Given the description of an element on the screen output the (x, y) to click on. 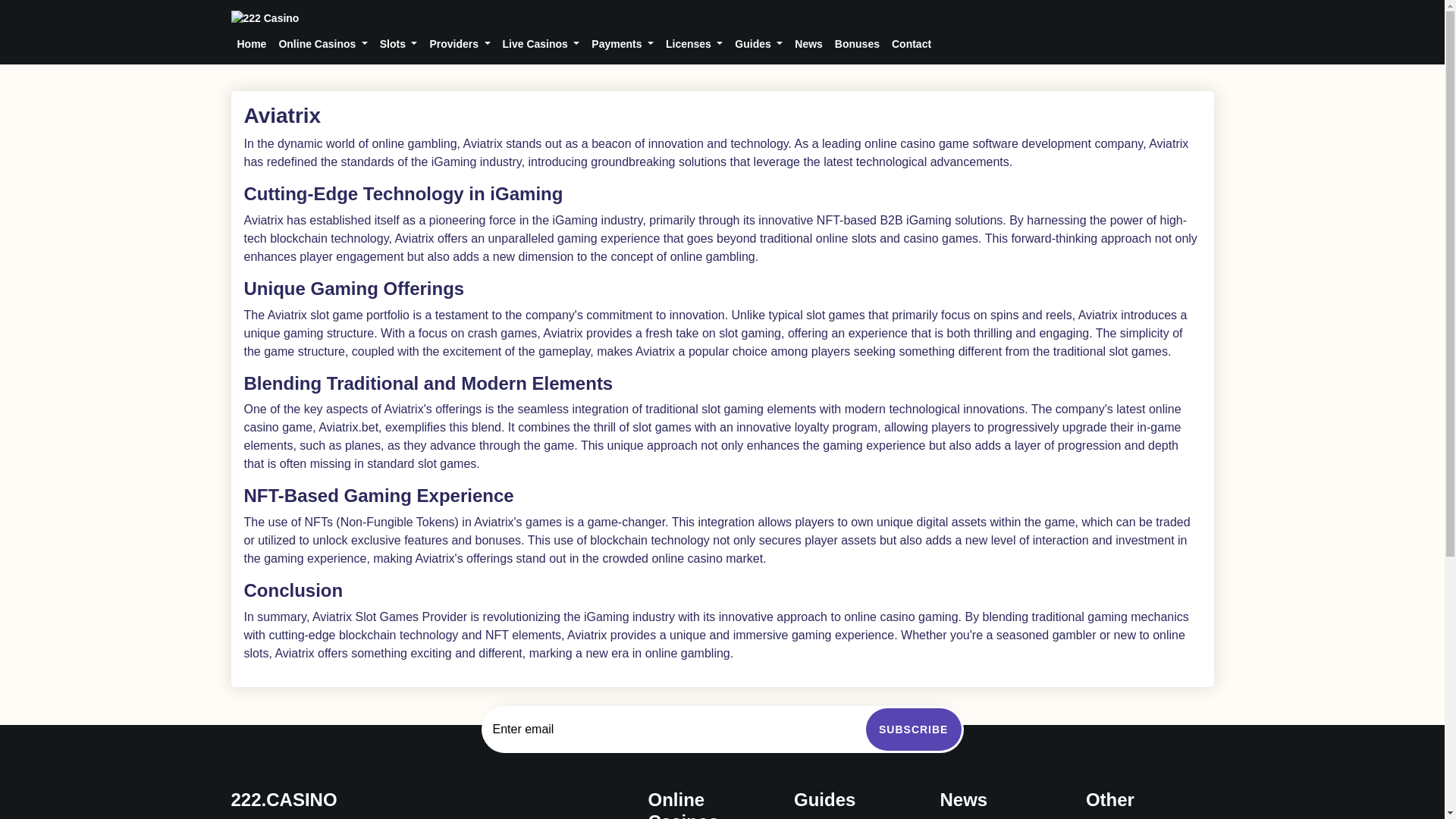
Slots (398, 44)
Home (251, 44)
Online Casinos (322, 44)
Home (721, 17)
222 Casino (264, 18)
